Given the description of an element on the screen output the (x, y) to click on. 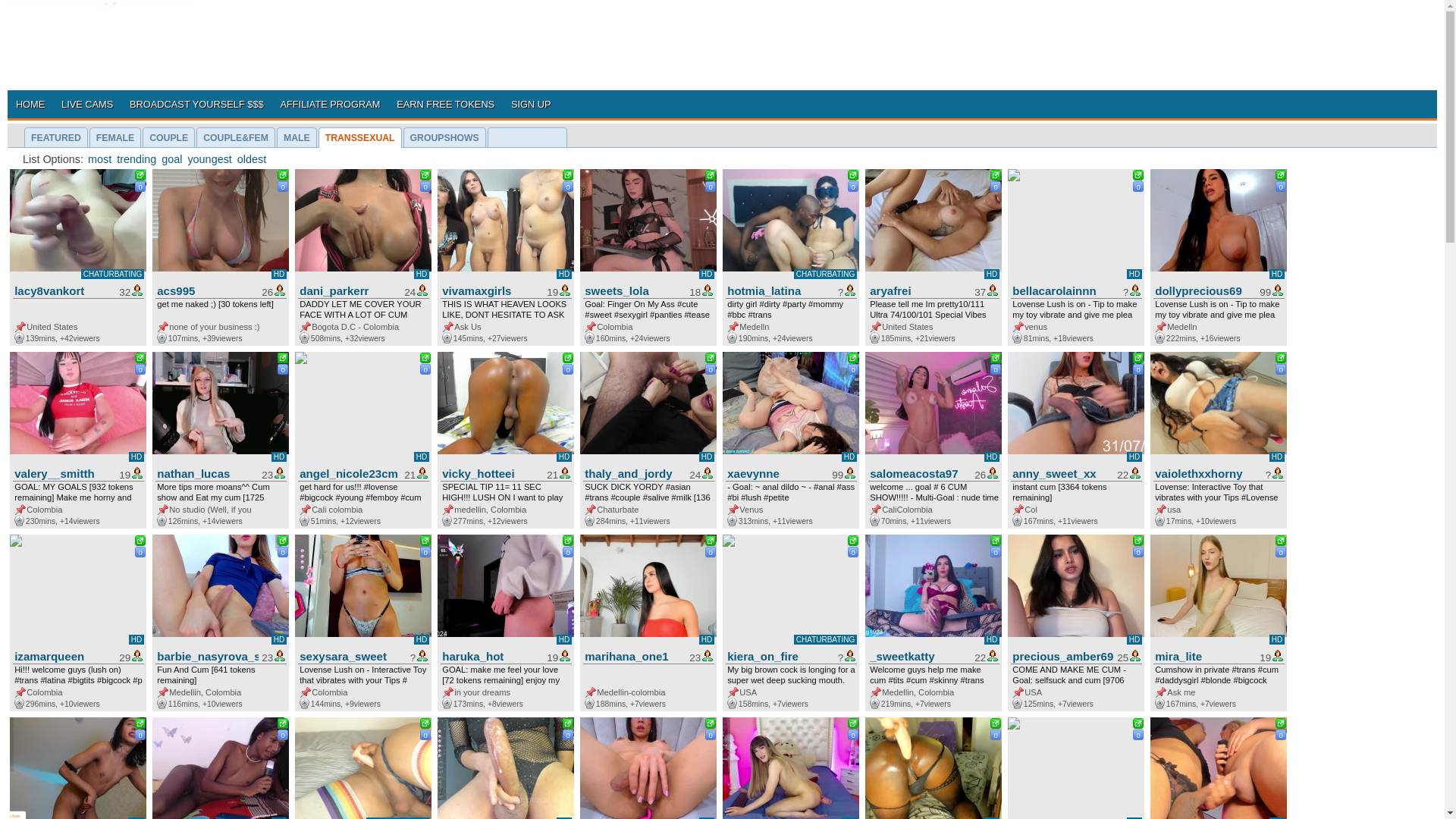
Open lacy8vankort in a popup window (141, 175)
acs995 (205, 290)
vivamaxgirls (490, 290)
lacy8vankort (63, 290)
MALE (296, 137)
oldest (250, 159)
SIGN UP (530, 103)
youngest (208, 159)
LIVE CAMS (86, 103)
EARN FREE TOKENS (445, 103)
